Given the description of an element on the screen output the (x, y) to click on. 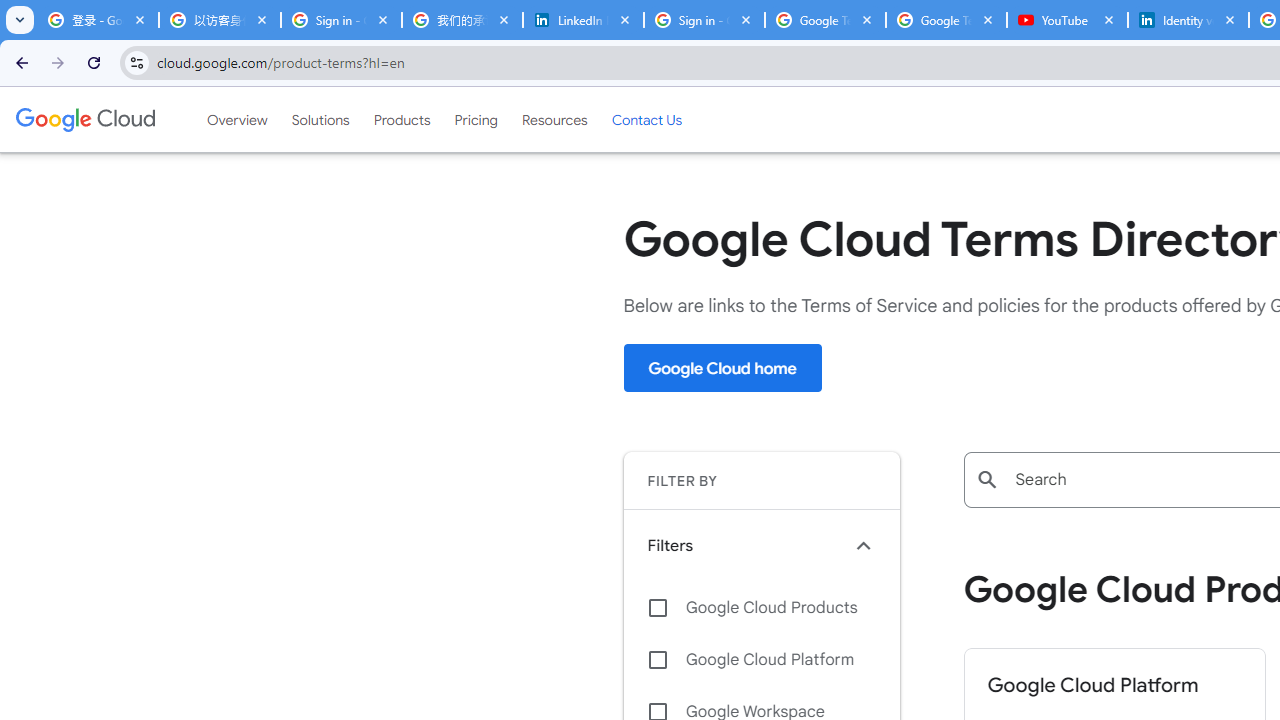
Resources (553, 119)
Overview (236, 119)
Filters keyboard_arrow_up (761, 545)
Back (19, 62)
Sign in - Google Accounts (340, 20)
Solutions (320, 119)
Google Cloud Platform (761, 660)
Google Cloud Products (761, 607)
Identity verification via Persona | LinkedIn Help (1188, 20)
Google Cloud (84, 119)
Products (401, 119)
